Given the description of an element on the screen output the (x, y) to click on. 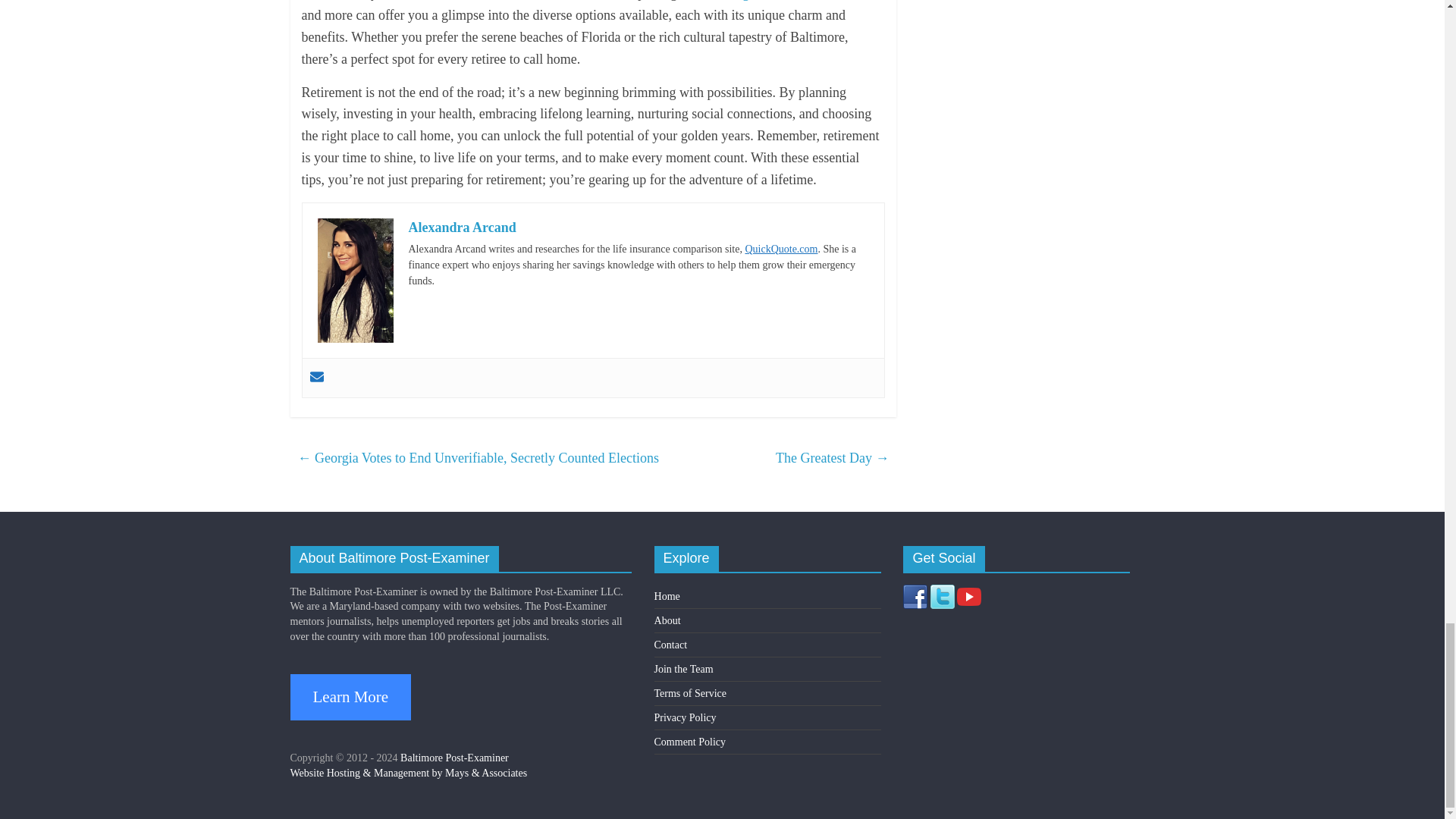
Alexandra Arcand (461, 227)
Baltimore Post-Examiner (454, 757)
QuickQuote.com (780, 248)
